Given the description of an element on the screen output the (x, y) to click on. 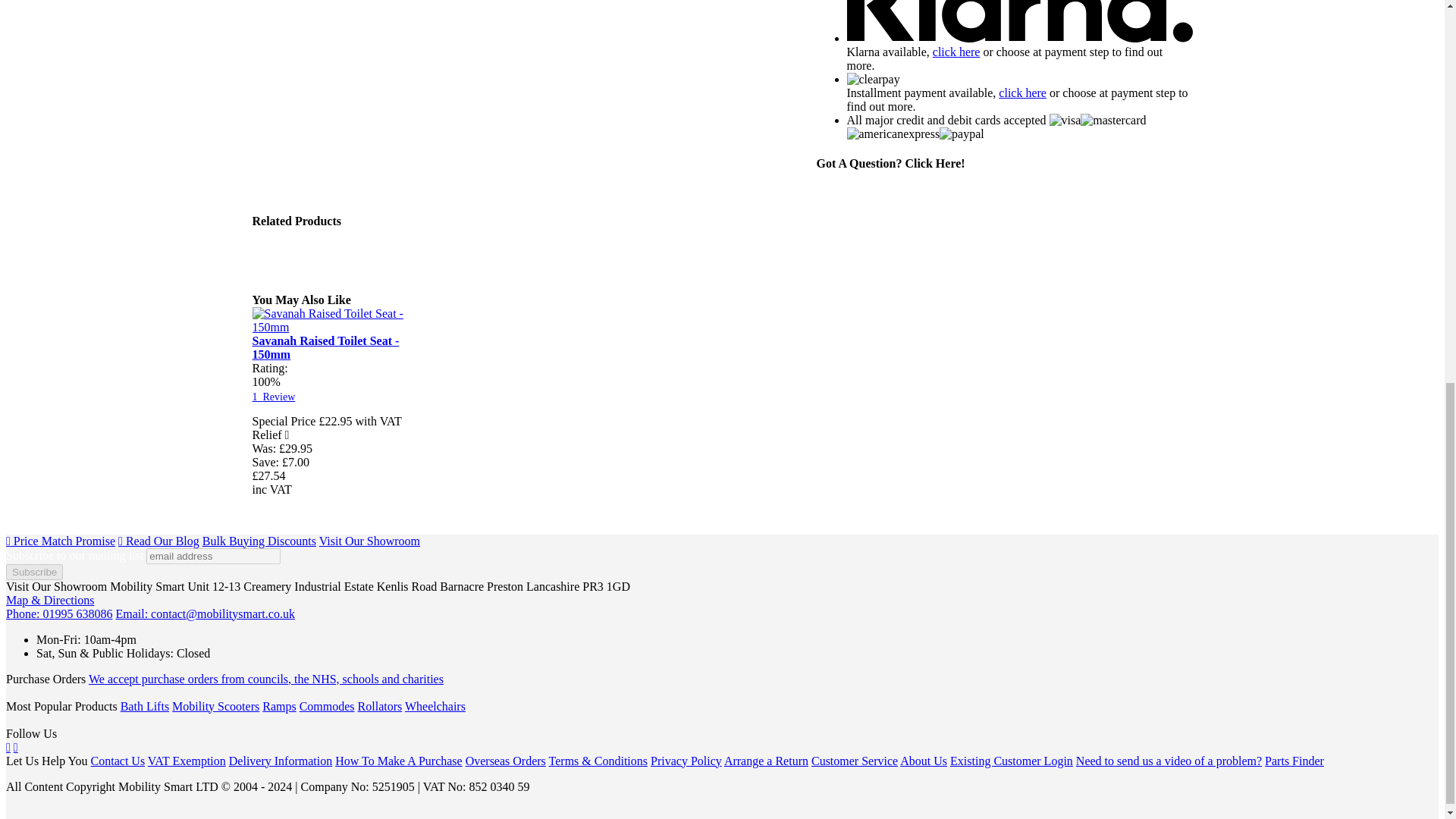
Subscribe (33, 571)
